Given the description of an element on the screen output the (x, y) to click on. 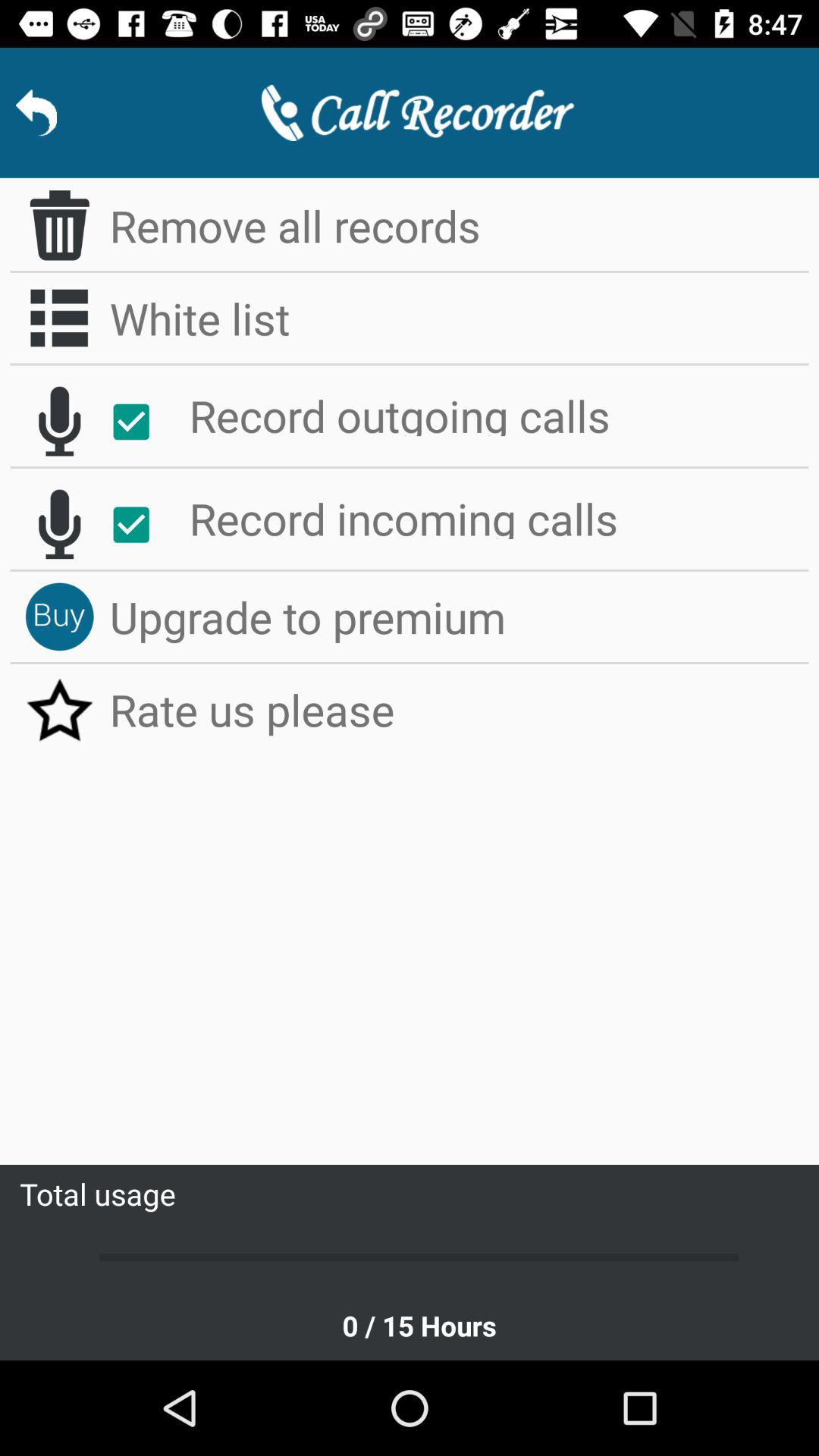
the button is used to go back (35, 112)
